Given the description of an element on the screen output the (x, y) to click on. 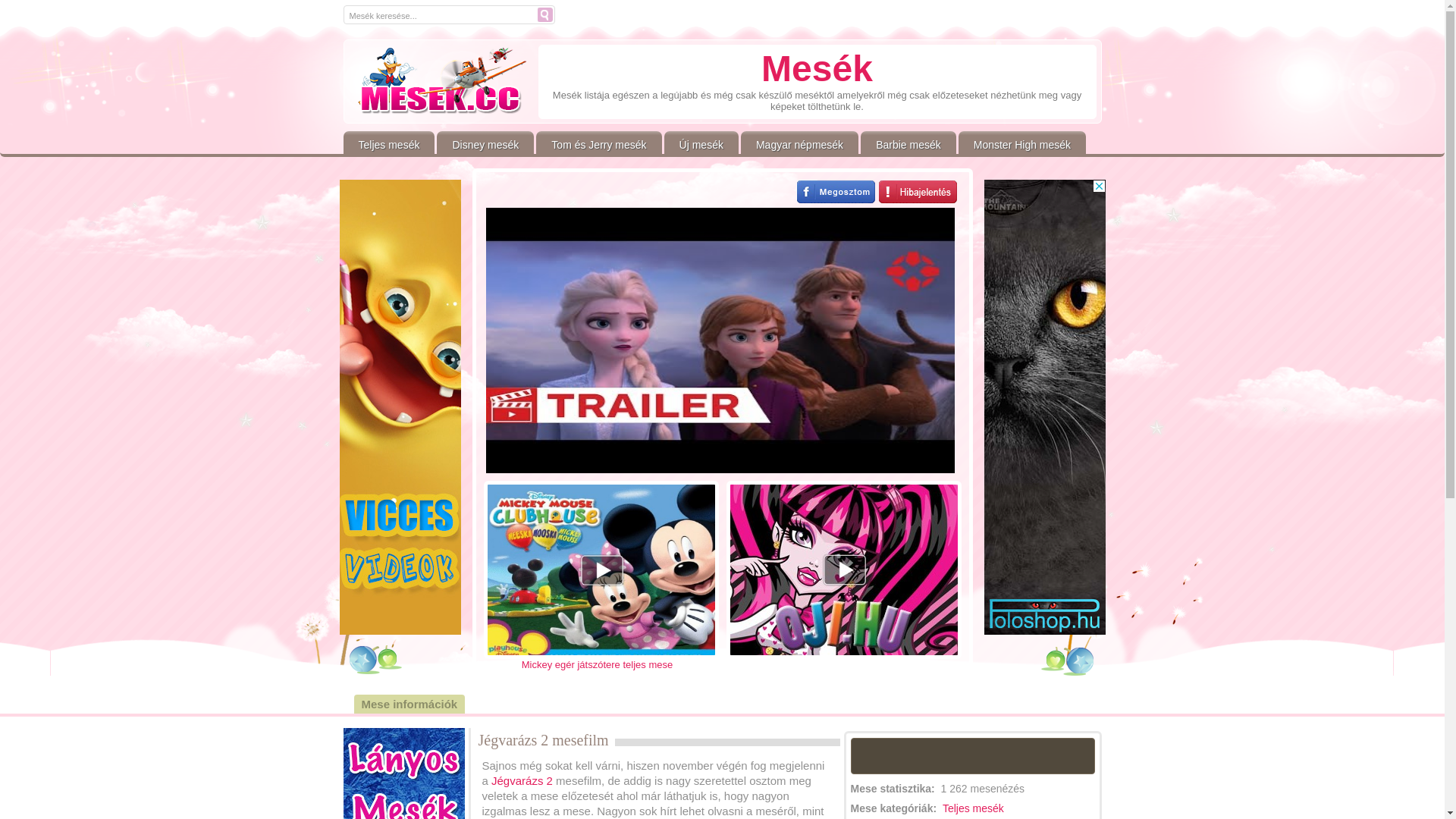
3rd party ad content Element type: hover (1044, 406)
